Given the description of an element on the screen output the (x, y) to click on. 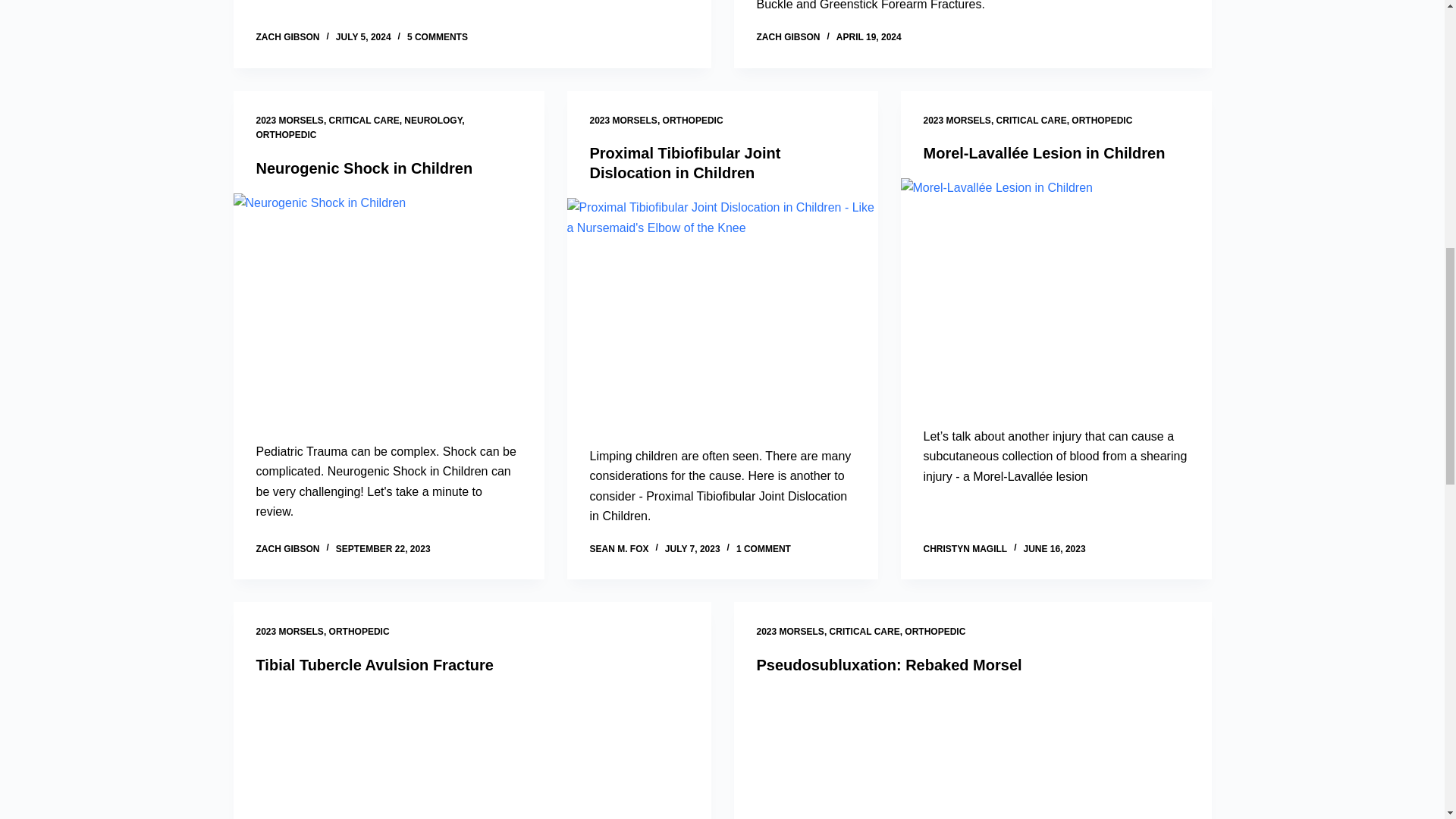
Posts by Zach Gibson (789, 36)
Posts by Sean M. Fox (619, 548)
Posts by Zach Gibson (288, 36)
Posts by Christyn Magill (965, 548)
Posts by Zach Gibson (288, 548)
